Given the description of an element on the screen output the (x, y) to click on. 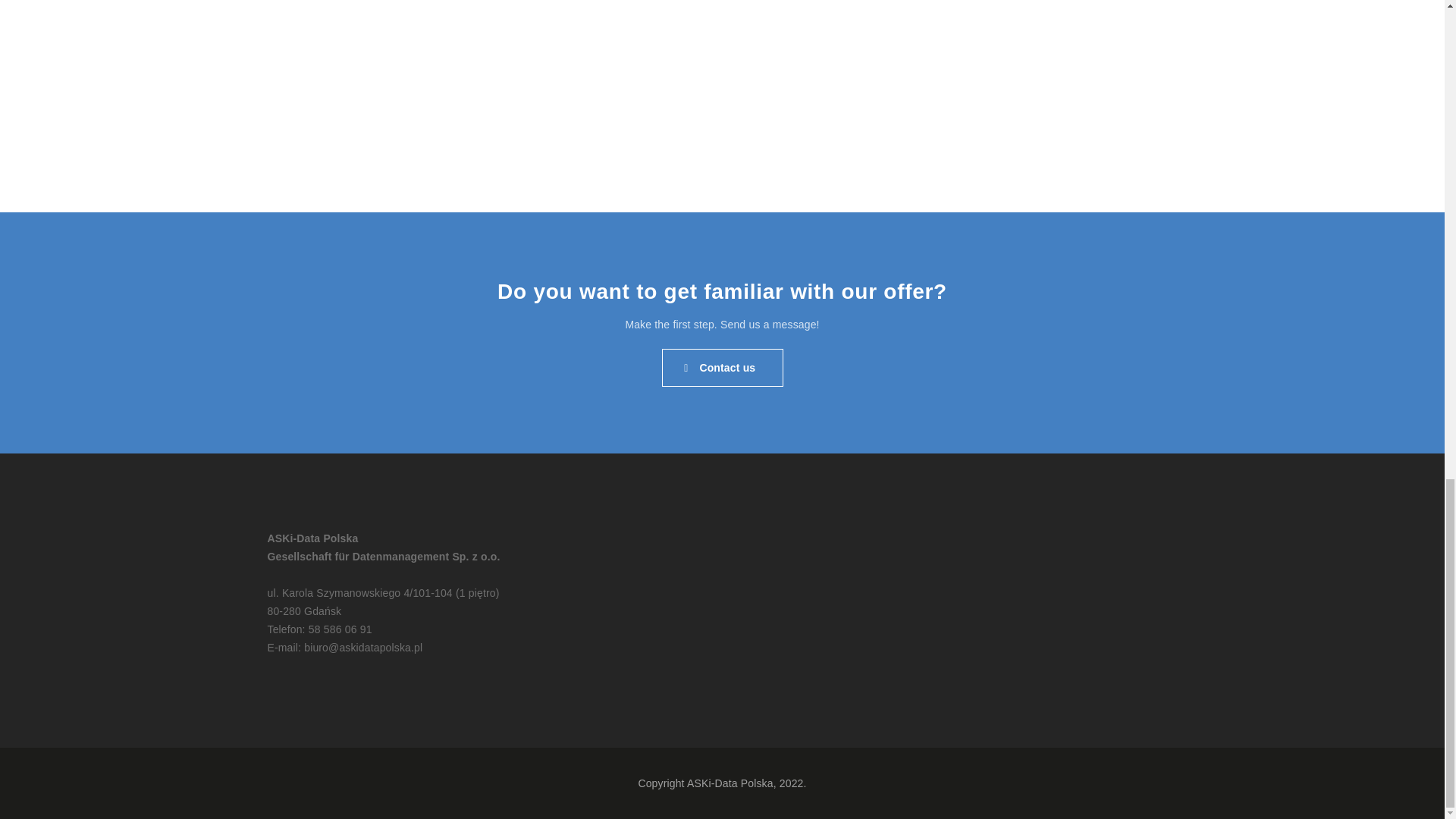
Contact us (722, 367)
